Given the description of an element on the screen output the (x, y) to click on. 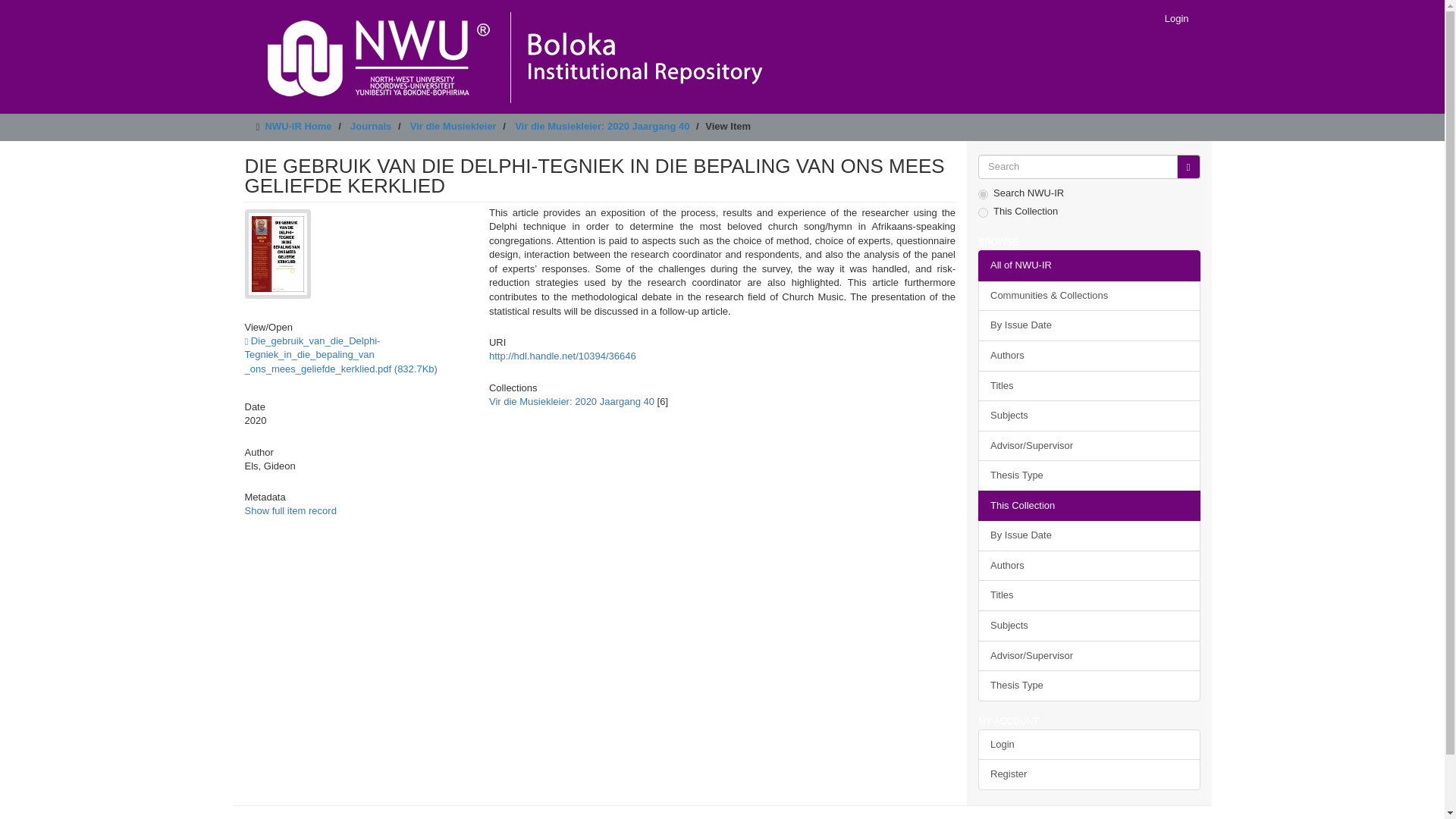
This Collection (1088, 505)
Login (1176, 18)
Subjects (1088, 415)
By Issue Date (1088, 325)
Go (1187, 166)
Titles (1088, 594)
Thesis Type (1088, 475)
By Issue Date (1088, 535)
NWU-IR Home (297, 125)
Subjects (1088, 625)
Titles (1088, 385)
Vir die Musiekleier: 2020 Jaargang 40 (571, 401)
Authors (1088, 565)
Vir die Musiekleier (453, 125)
Show full item record (290, 510)
